Given the description of an element on the screen output the (x, y) to click on. 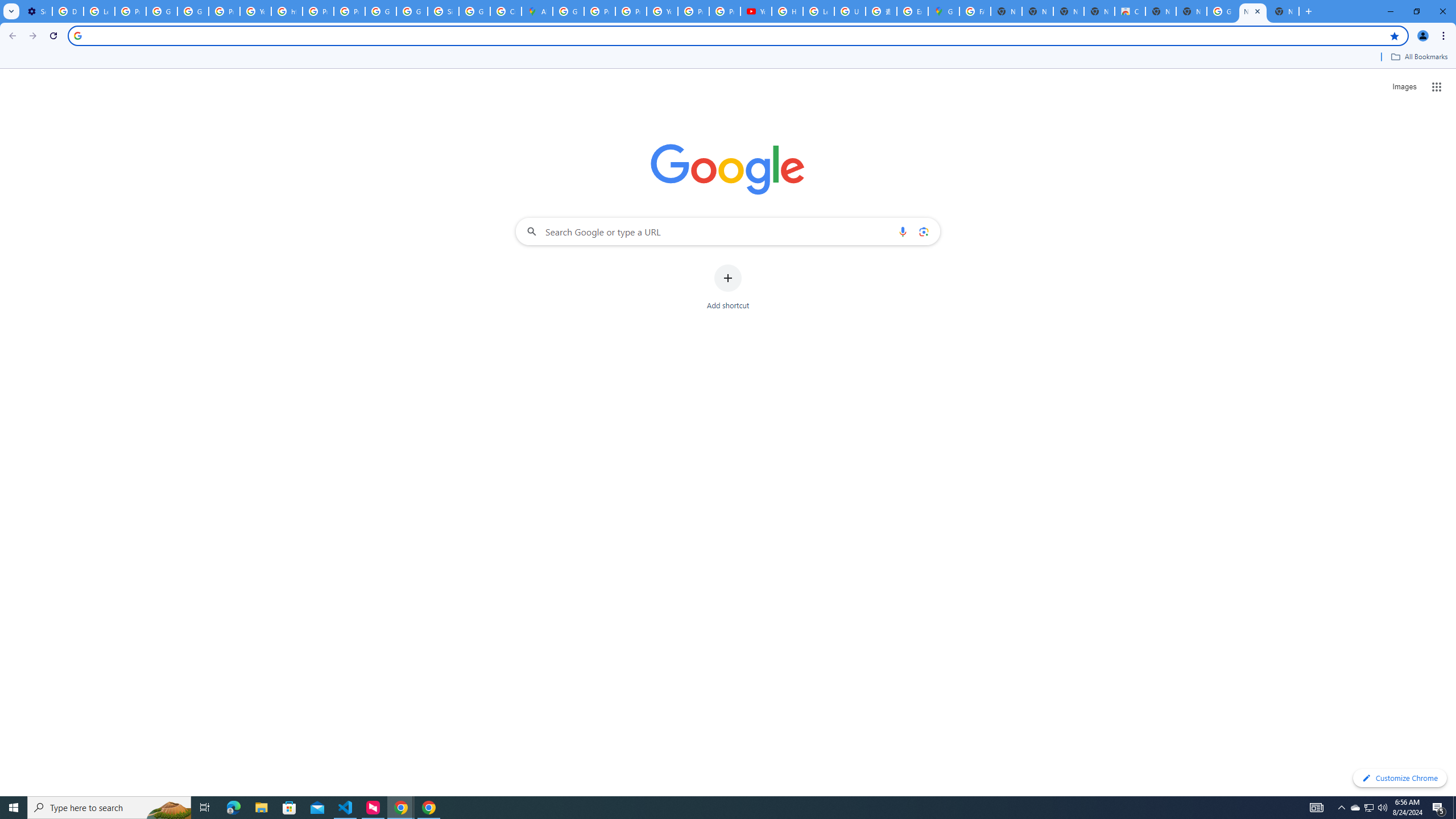
Google Account Help (161, 11)
YouTube (662, 11)
Explore new street-level details - Google Maps Help (912, 11)
New Tab (1283, 11)
Privacy Help Center - Policies Help (599, 11)
New Tab (1190, 11)
Privacy Checkup (724, 11)
Chrome Web Store (1129, 11)
